Given the description of an element on the screen output the (x, y) to click on. 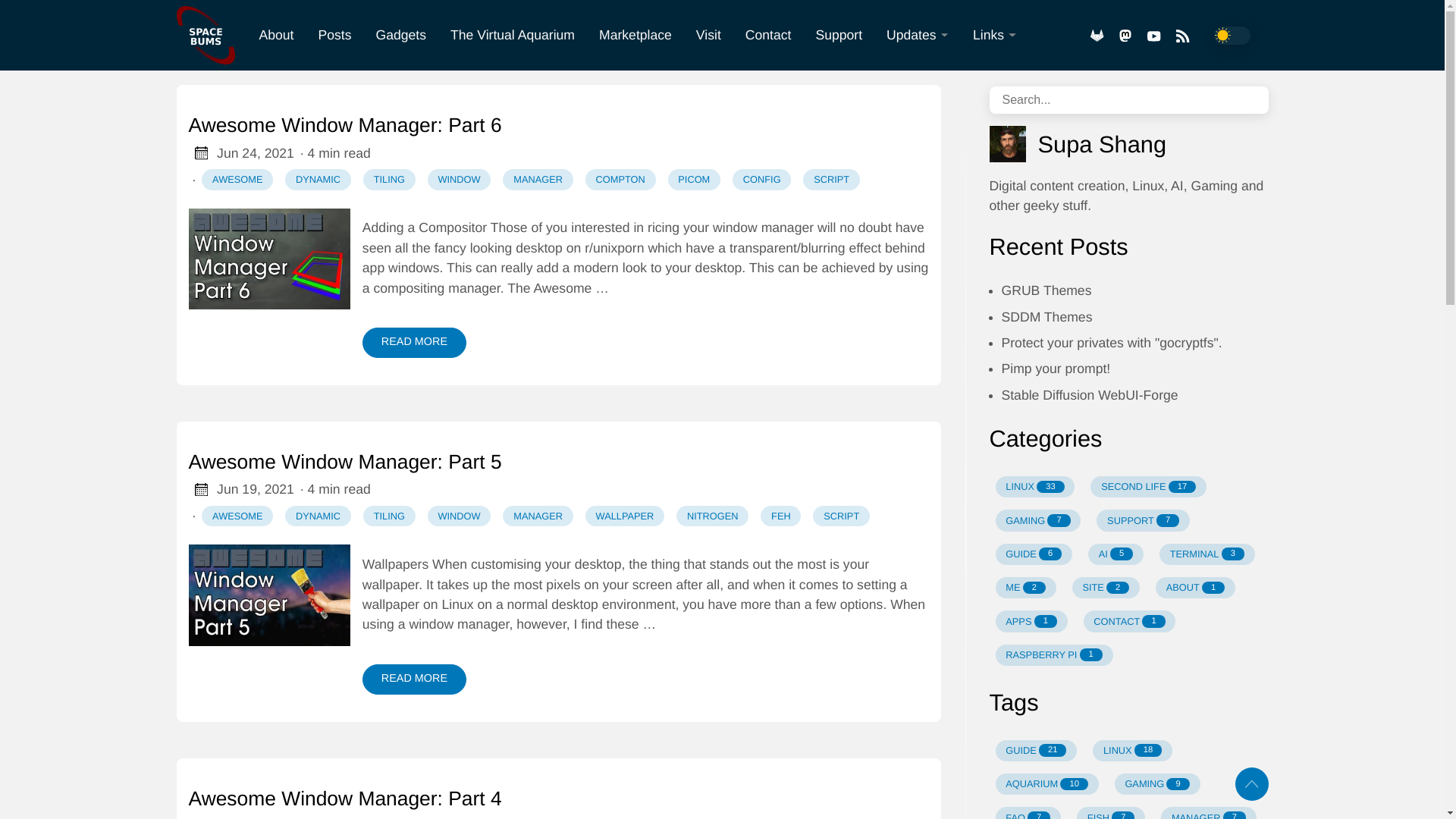
rss (1181, 35)
Contact (768, 34)
Links (994, 35)
AWESOME (237, 179)
Awesome Window Manager: Part 6 (557, 125)
Posts (333, 34)
Updates (917, 35)
youtube (1153, 35)
on (1230, 34)
COMPTON (620, 179)
Awesome Window Manager: Part 6 (557, 125)
READ MORE (413, 342)
Visit (708, 34)
Marketplace (635, 34)
gitlab (1096, 35)
